Given the description of an element on the screen output the (x, y) to click on. 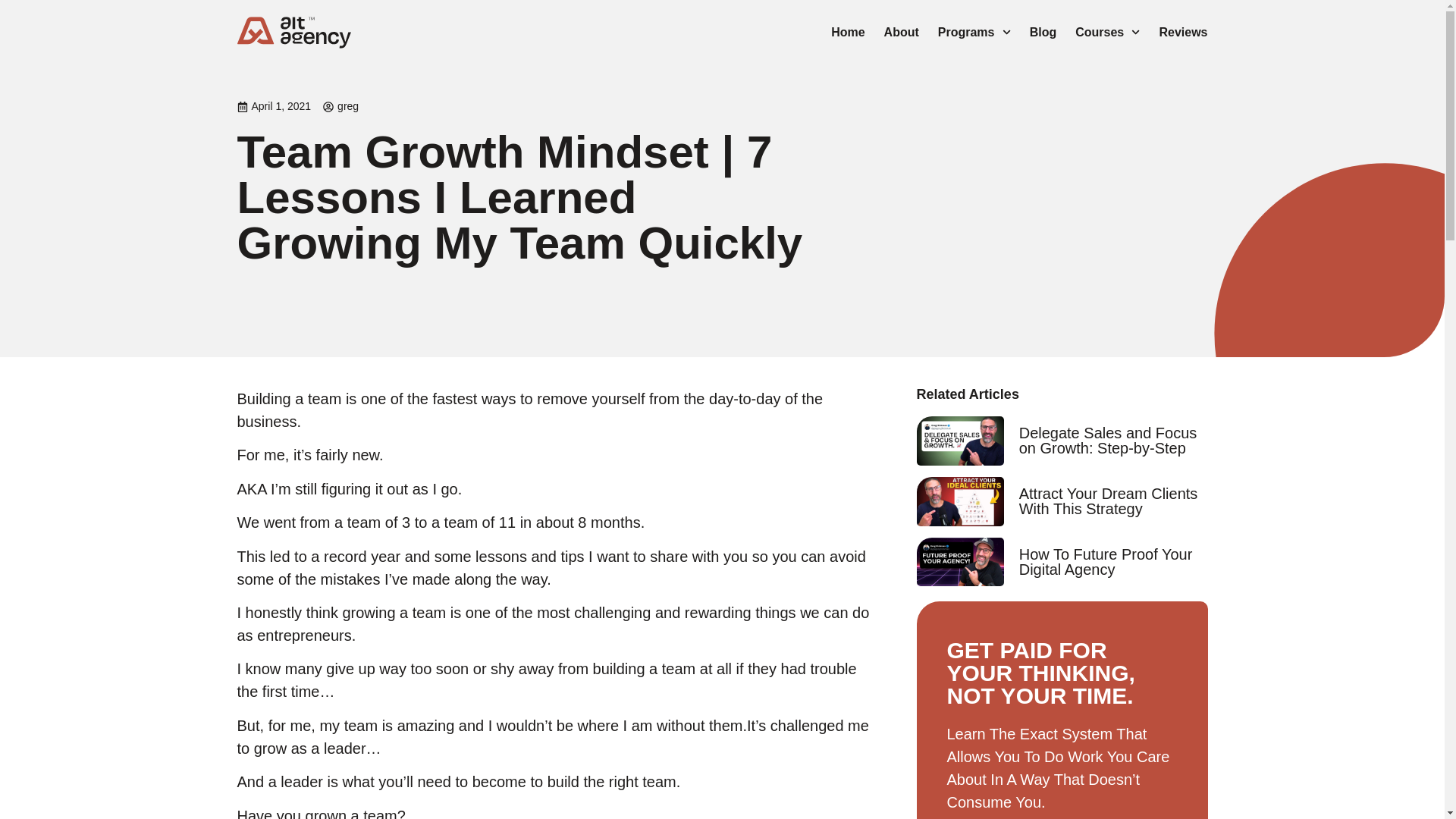
Courses (1107, 32)
Reviews (1182, 32)
About (900, 32)
Programs (973, 32)
Home (847, 32)
